Given the description of an element on the screen output the (x, y) to click on. 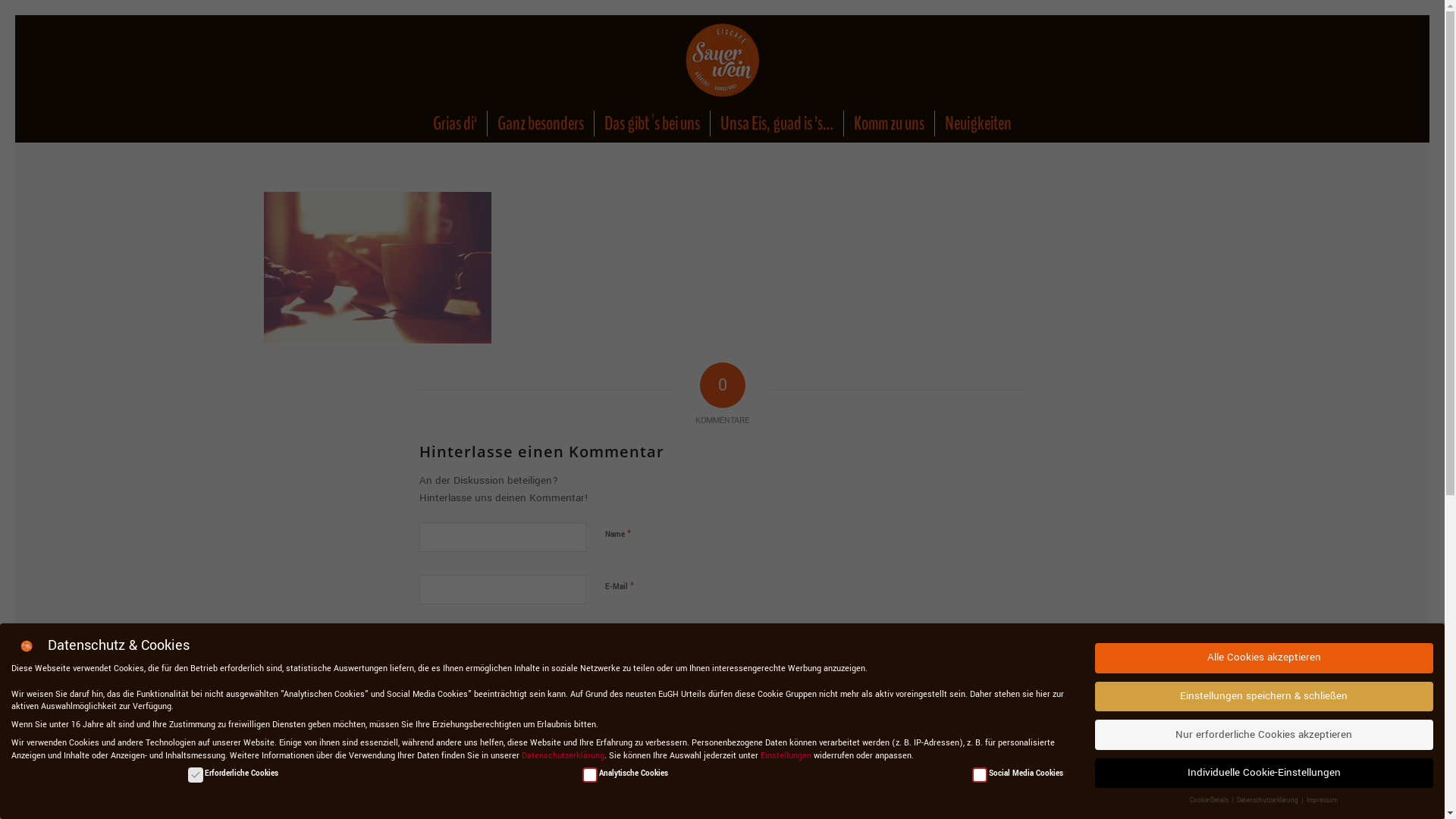
Neuigkeiten Element type: text (977, 123)
Nur erforderliche Cookies akzeptieren Element type: text (1264, 734)
Komm zu uns Element type: text (888, 123)
Individuelle Cookie-Einstellungen Element type: text (1264, 772)
Alle Cookies akzeptieren Element type: text (1264, 657)
Cookie-Details Element type: text (1209, 800)
Impressum Element type: text (1321, 800)
logo_website_orange_04 Element type: hover (721, 59)
Einstellungen Element type: text (785, 755)
Ganz besonders Element type: text (539, 123)
